Given the description of an element on the screen output the (x, y) to click on. 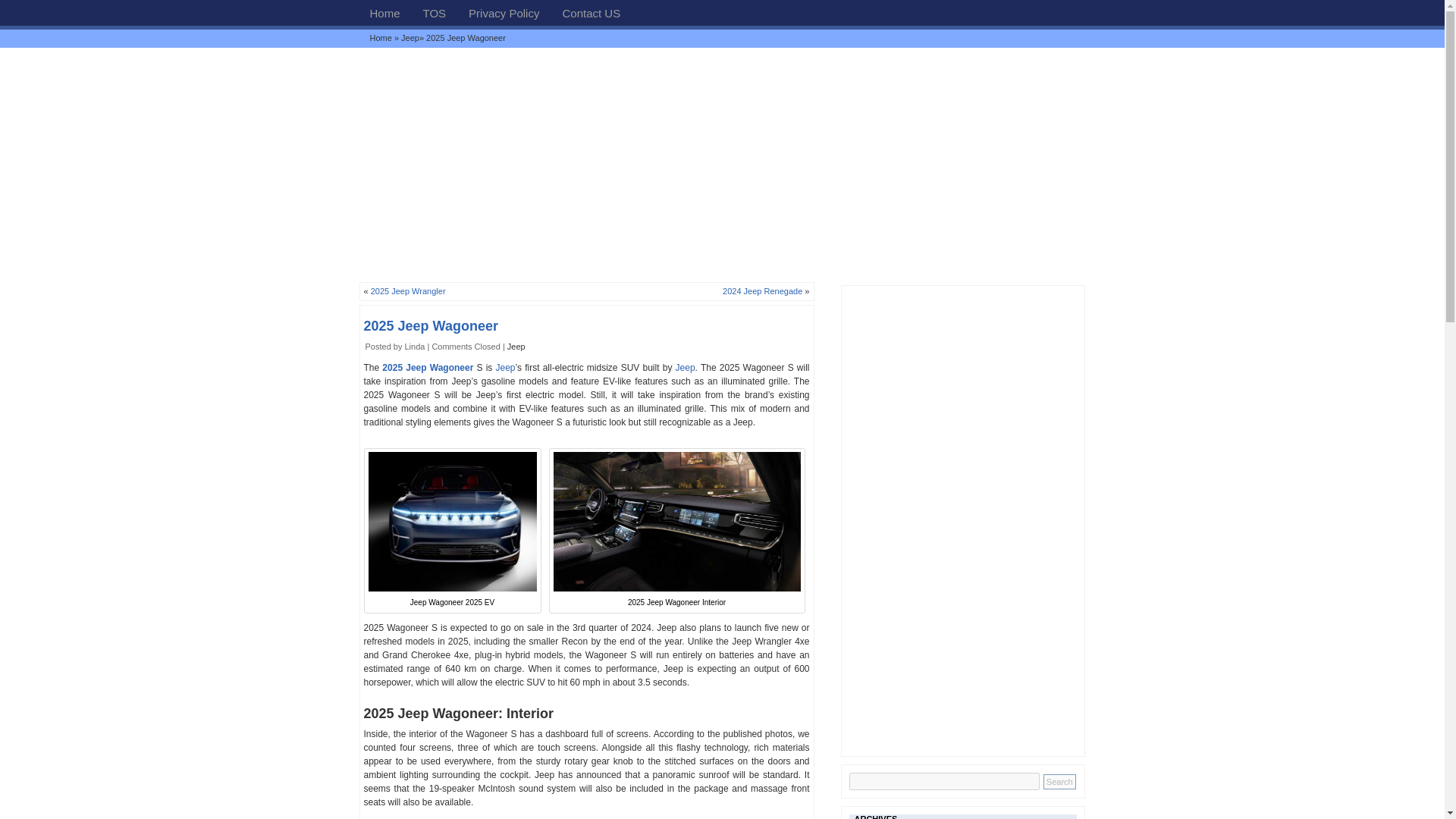
Home (380, 37)
Search (1059, 781)
Jeep (515, 346)
TOS (435, 12)
2025 Jeep Wagoneer (430, 325)
Jeep (685, 367)
Home (384, 12)
GTOPCARS.COM (380, 37)
2025 Jeep Wagoneer (427, 367)
